Given the description of an element on the screen output the (x, y) to click on. 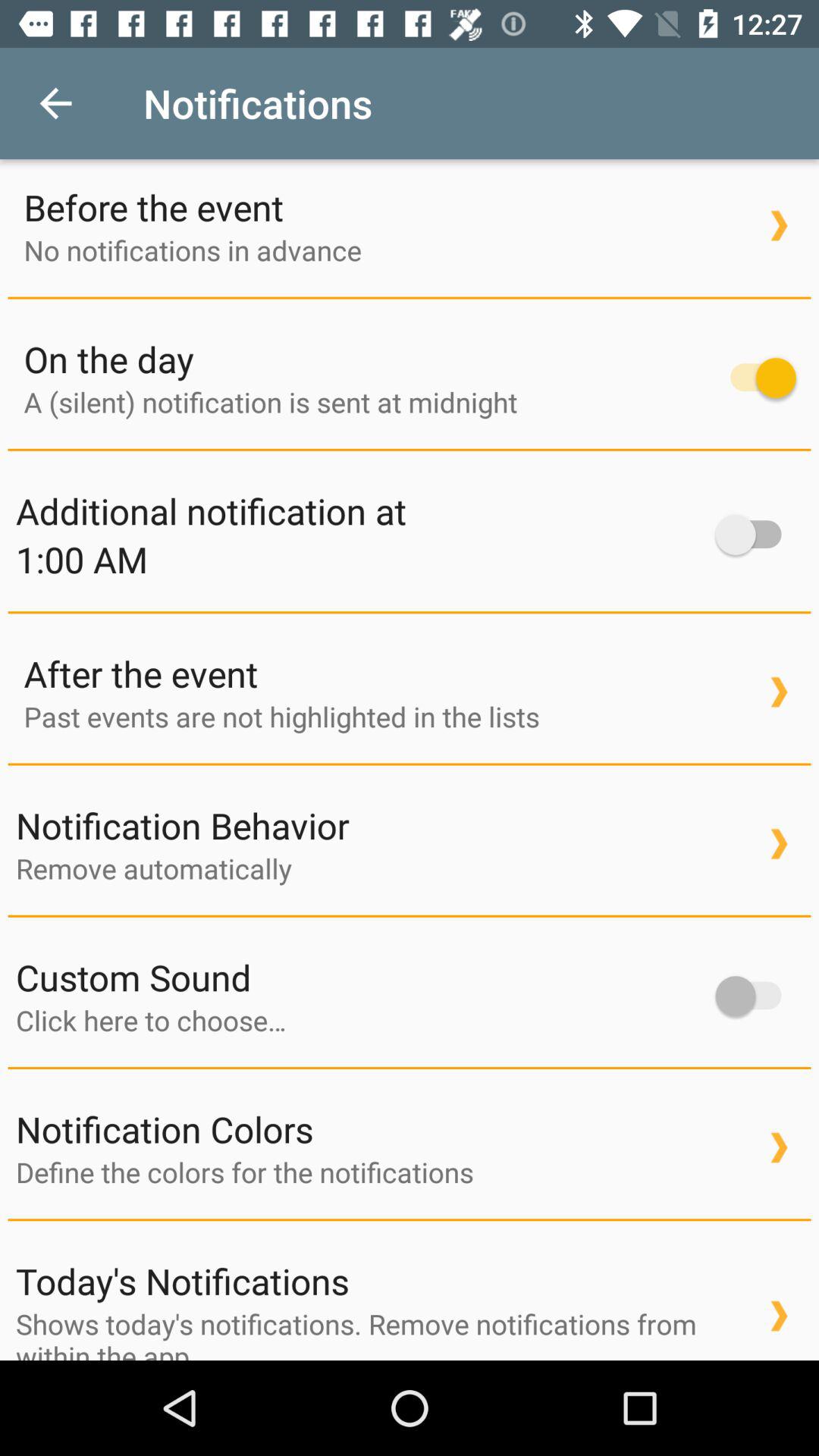
because back devicer (357, 1020)
